Given the description of an element on the screen output the (x, y) to click on. 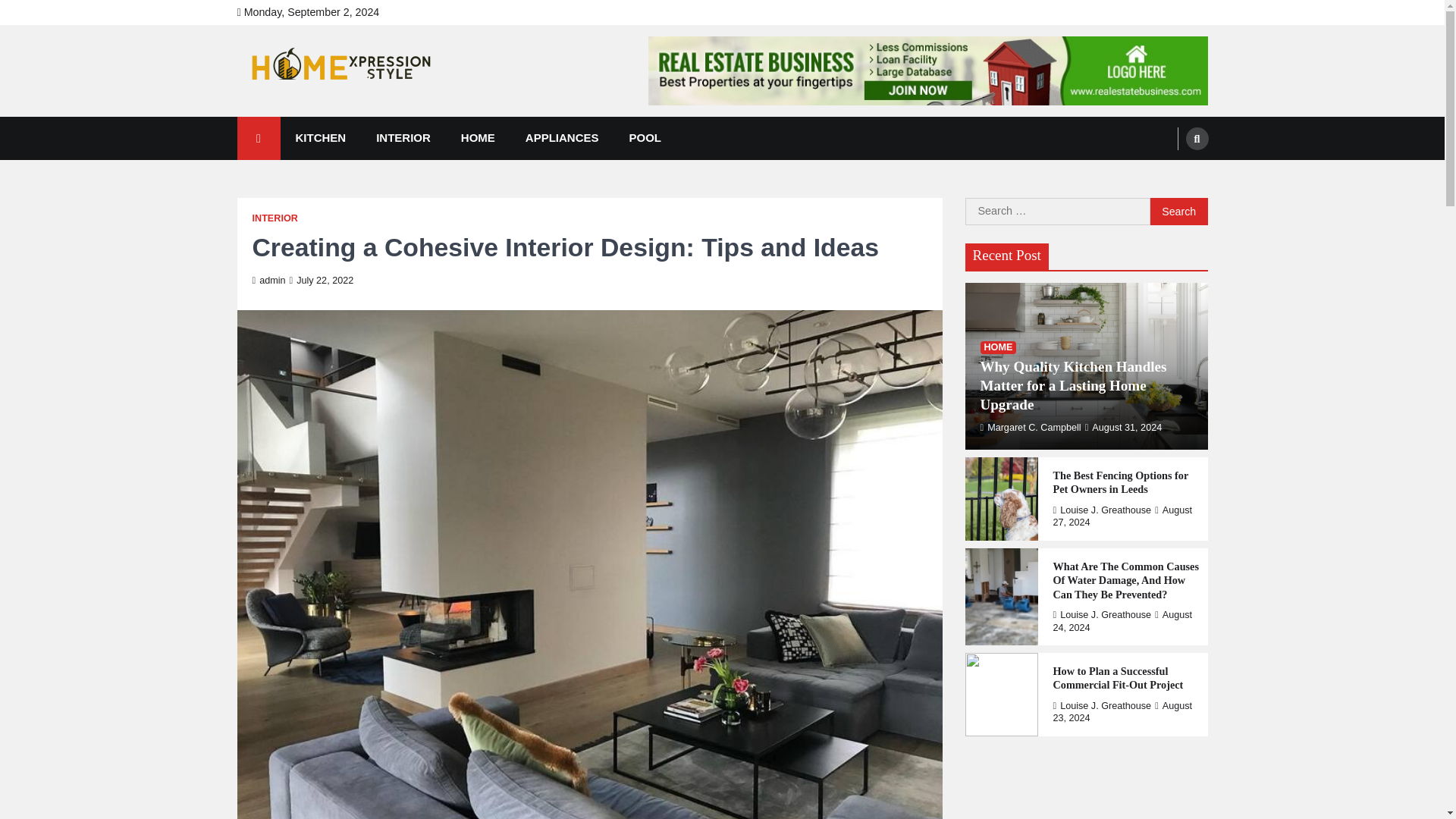
Search (1179, 211)
July 22, 2022 (321, 280)
INTERIOR (274, 218)
Margaret C. Campbell (1029, 427)
APPLIANCES (562, 138)
HOME (478, 138)
admin (268, 280)
The Best Fencing Options for Pet Owners in Leeds (1125, 482)
KITCHEN (321, 138)
